Given the description of an element on the screen output the (x, y) to click on. 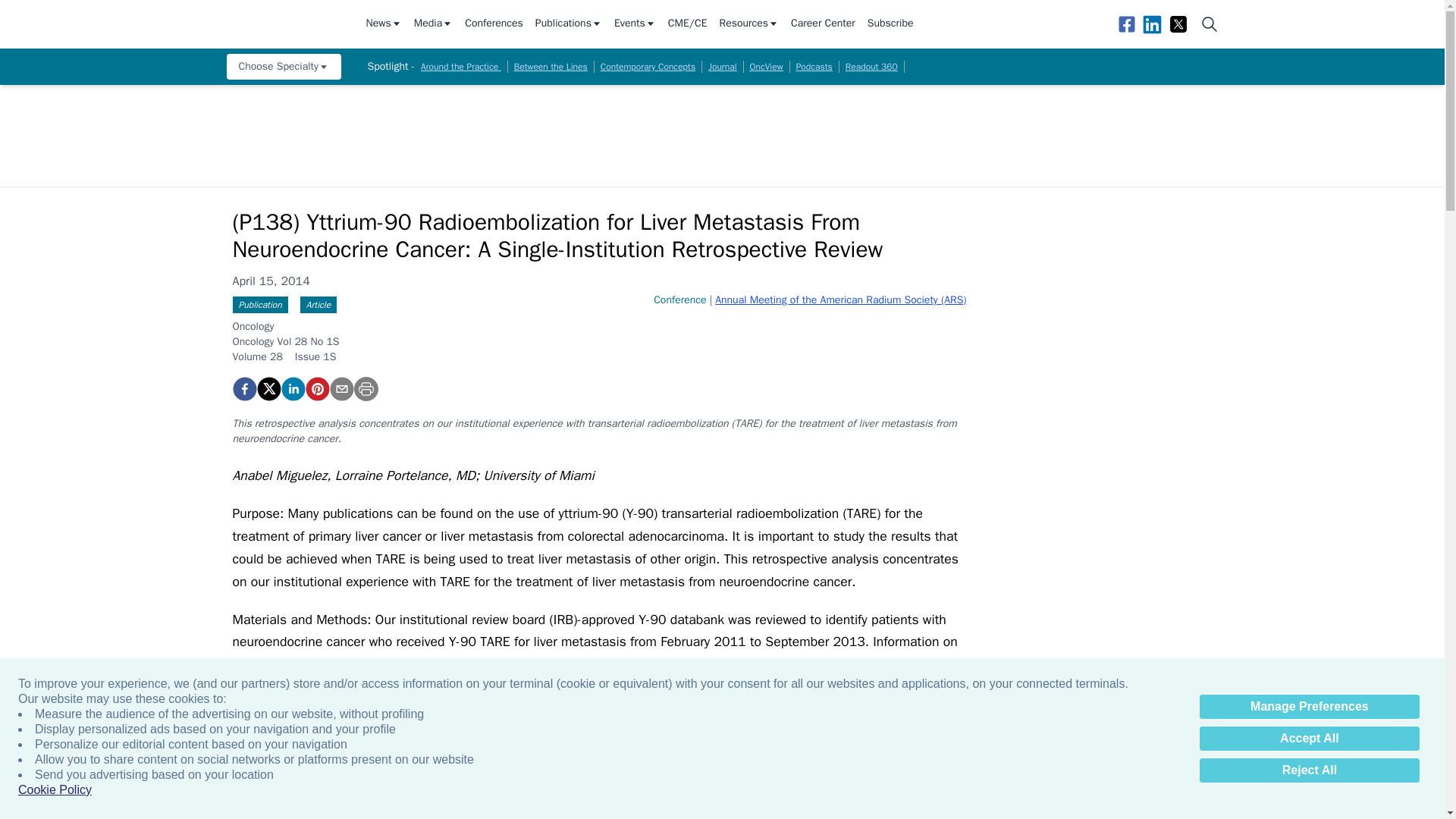
Events (635, 23)
Publications (568, 23)
Media (432, 23)
Cookie Policy (54, 789)
News (383, 23)
Accept All (1309, 738)
Conferences (493, 23)
Manage Preferences (1309, 706)
Reject All (1309, 769)
